Given the description of an element on the screen output the (x, y) to click on. 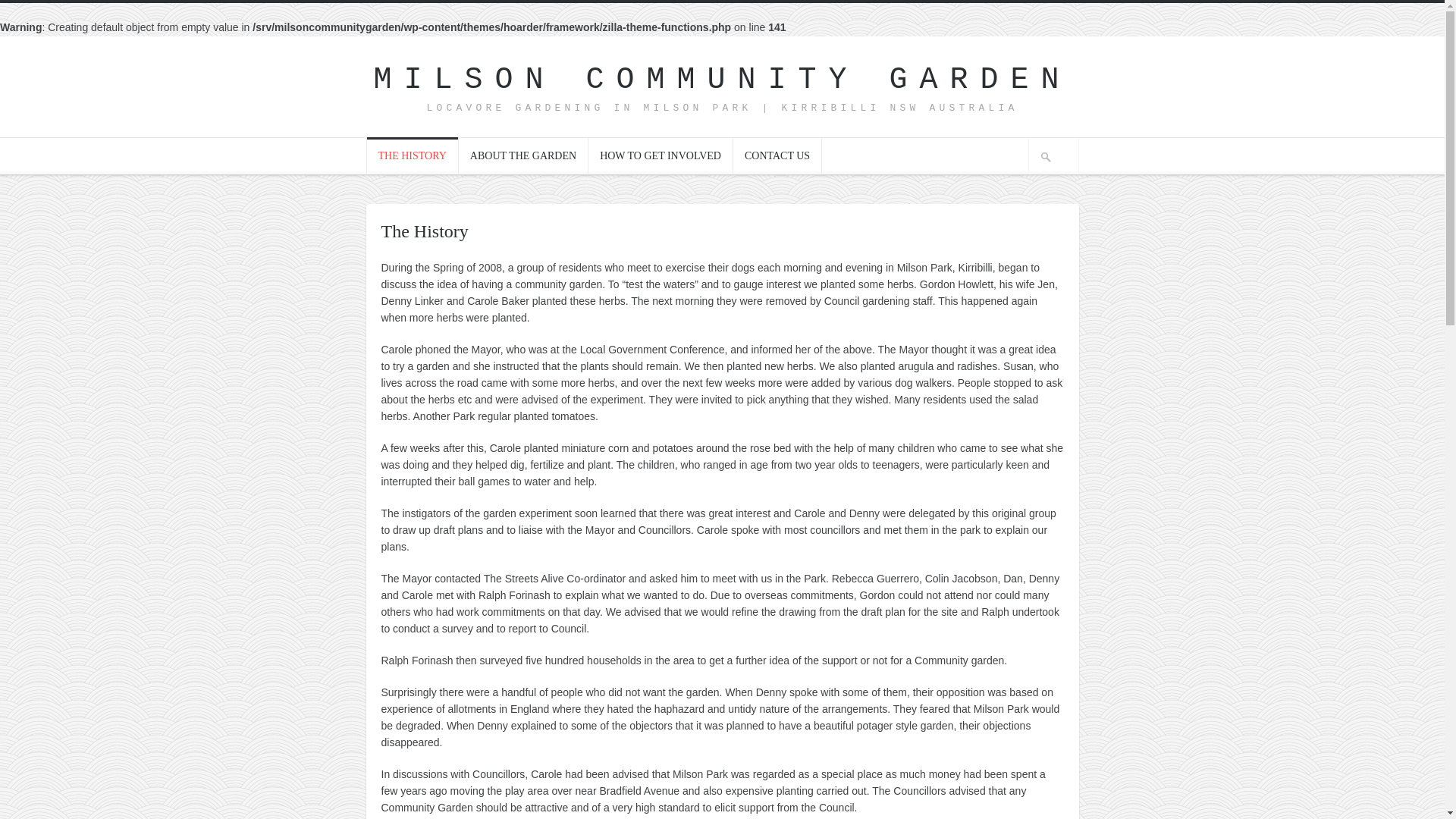
HOW TO GET INVOLVED Element type: text (660, 154)
MILSON COMMUNITY GARDEN Element type: text (721, 79)
THE HISTORY Element type: text (412, 154)
CONTACT US Element type: text (777, 154)
ABOUT THE GARDEN Element type: text (522, 154)
